Given the description of an element on the screen output the (x, y) to click on. 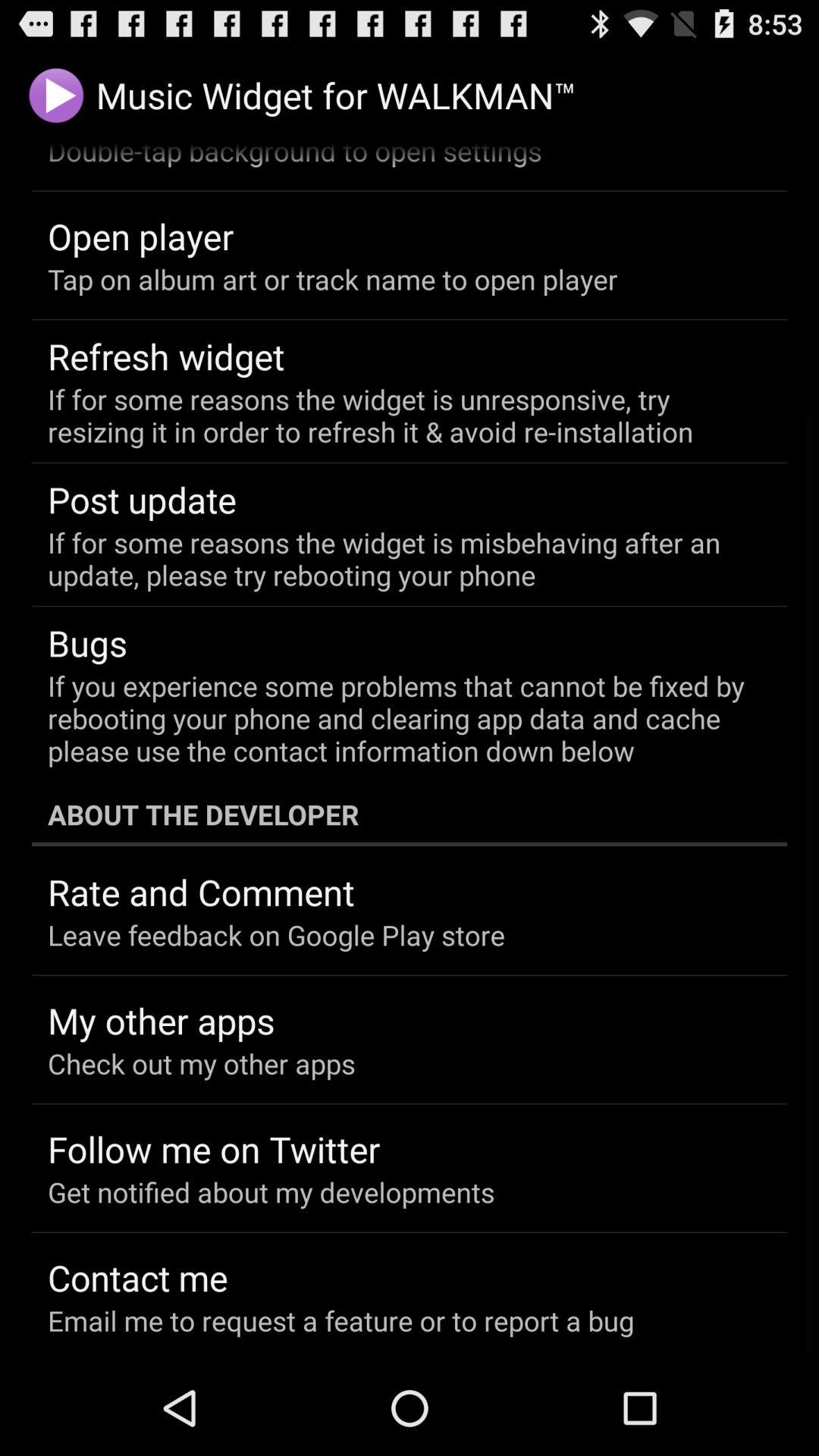
press the rate and comment app (200, 891)
